Given the description of an element on the screen output the (x, y) to click on. 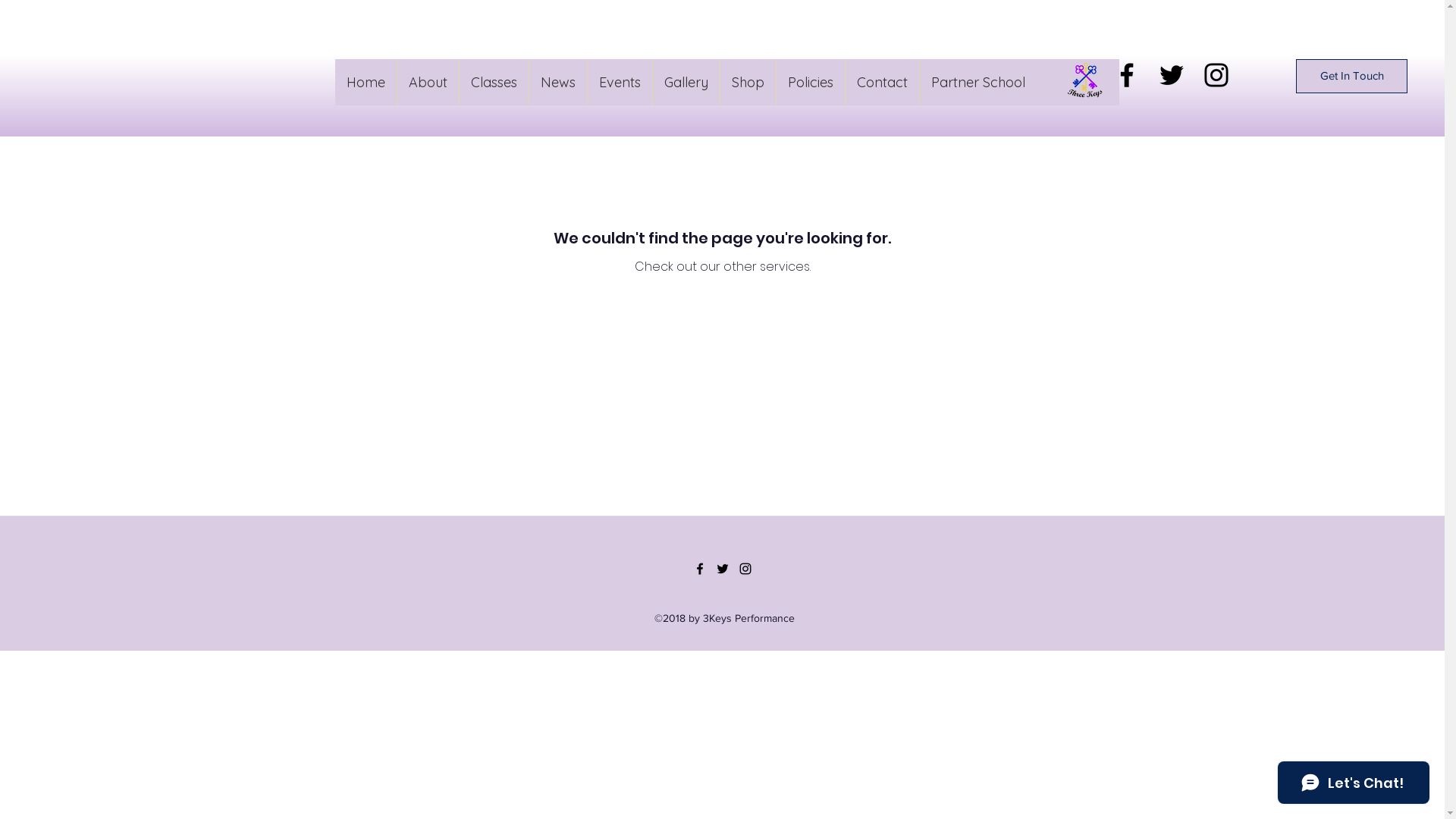
Home Element type: text (365, 82)
Events Element type: text (619, 82)
Shop Element type: text (747, 82)
About Element type: text (427, 82)
Get In Touch Element type: text (1351, 76)
Classes Element type: text (493, 82)
News Element type: text (557, 82)
Contact Element type: text (881, 82)
Gallery Element type: text (685, 82)
Partner School Element type: text (977, 82)
Policies Element type: text (809, 82)
